Given the description of an element on the screen output the (x, y) to click on. 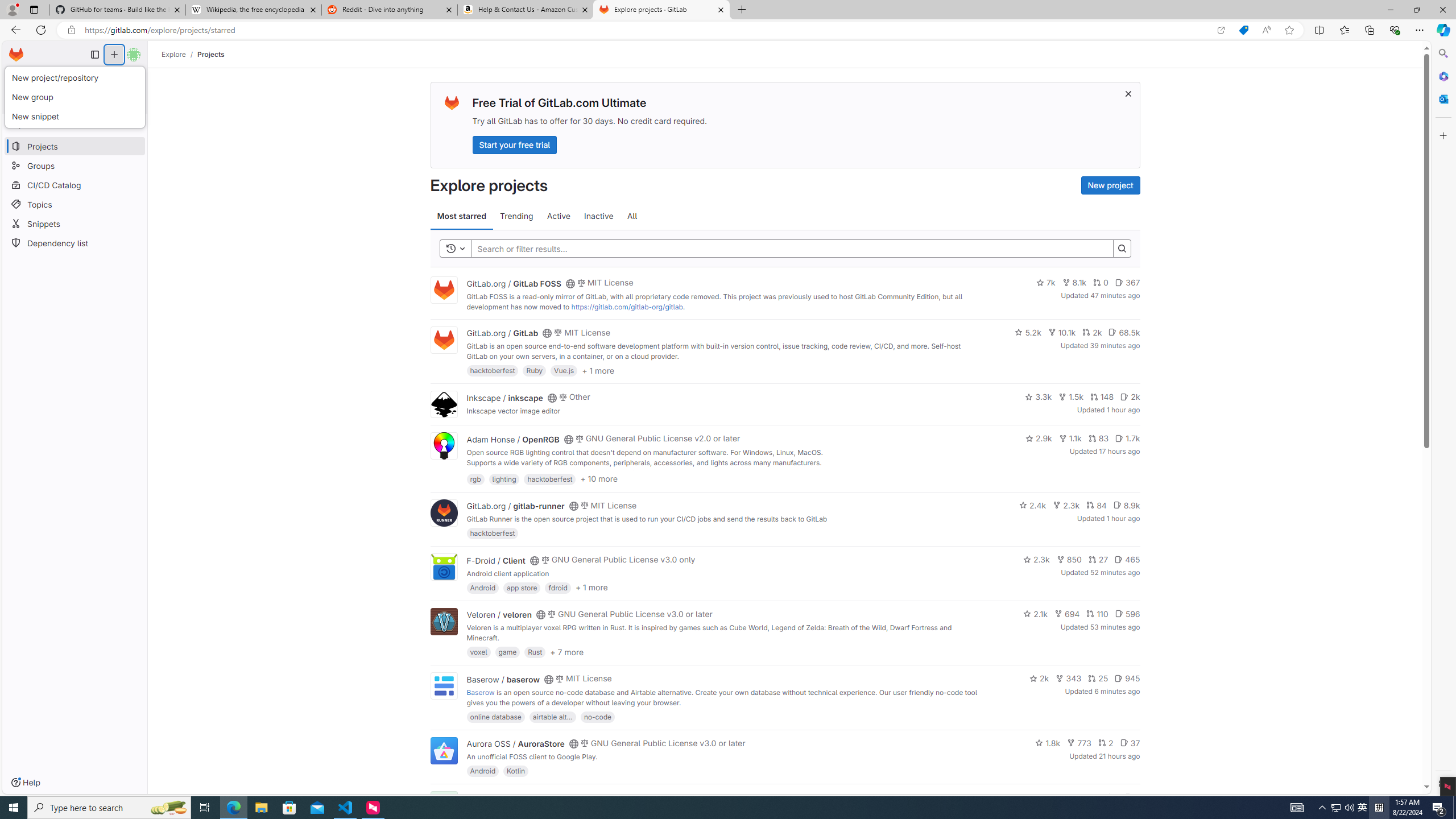
app store (521, 587)
8.1k (1073, 282)
2.3k (1035, 559)
773 (1079, 742)
Android (482, 770)
no-code (597, 715)
New group (75, 97)
Active (559, 216)
Create new... (113, 54)
Topics (74, 203)
Snippets (74, 223)
online database (495, 715)
